Given the description of an element on the screen output the (x, y) to click on. 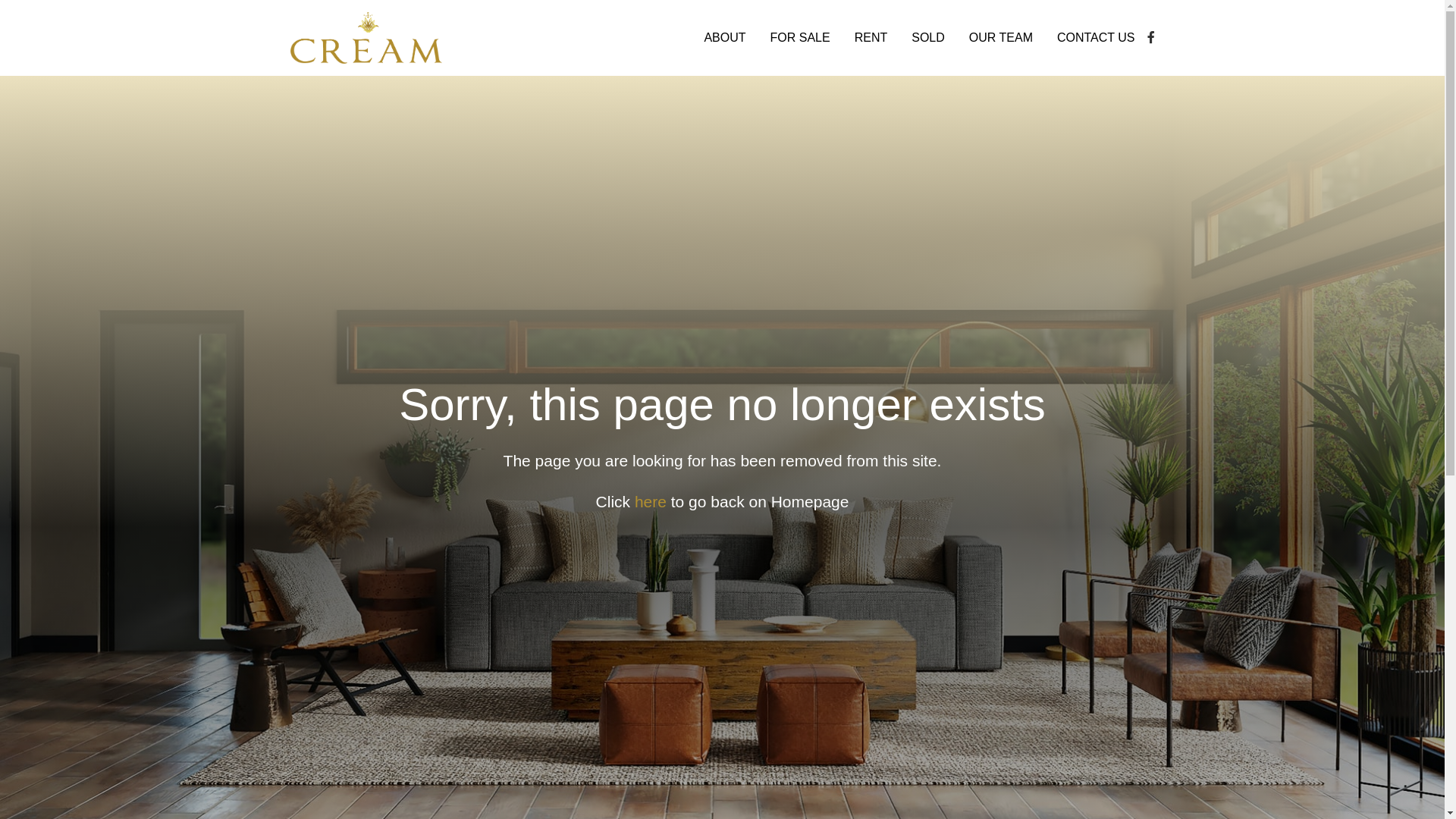
ABOUT Element type: text (724, 37)
FOR SALE Element type: text (800, 37)
RENT Element type: text (871, 37)
OUR TEAM Element type: text (1000, 37)
SOLD Element type: text (928, 37)
here  Element type: text (652, 501)
CONTACT US Element type: text (1095, 37)
